Given the description of an element on the screen output the (x, y) to click on. 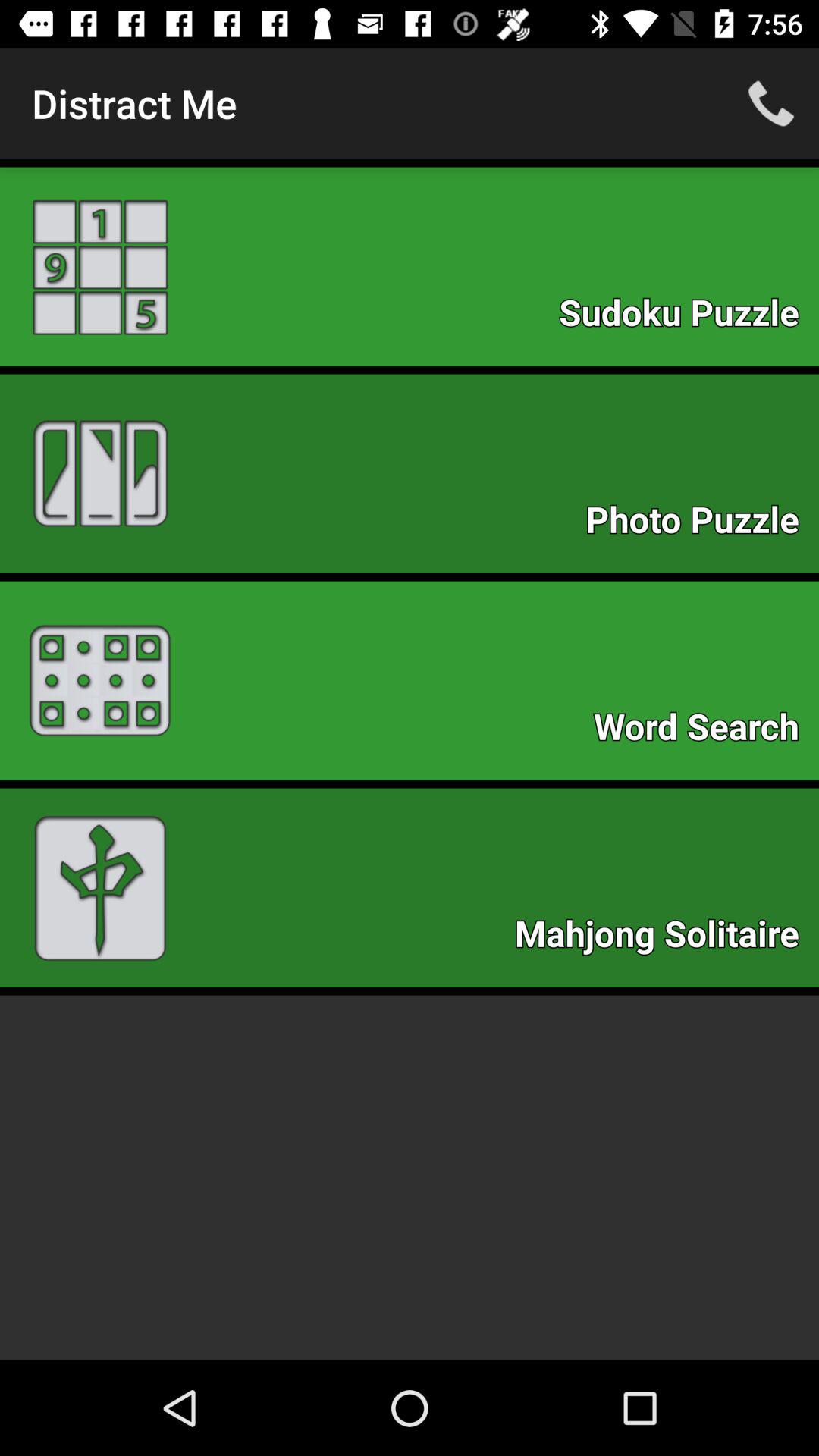
turn off icon next to the distract me (771, 103)
